Given the description of an element on the screen output the (x, y) to click on. 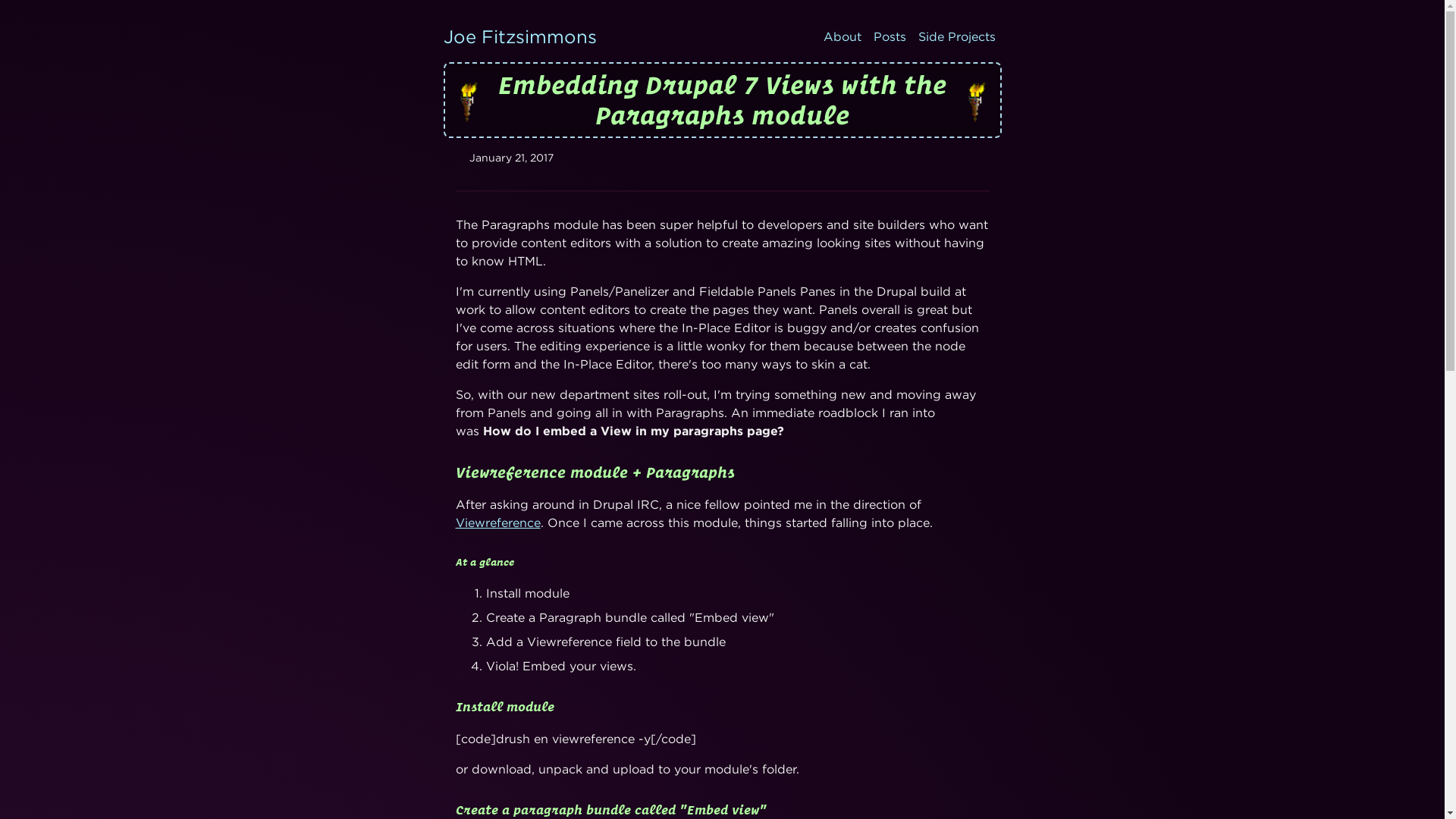
Side Projects (956, 36)
Joe Fitzsimmons (518, 36)
About (841, 36)
Viewreference (497, 522)
Posts (889, 36)
